Given the description of an element on the screen output the (x, y) to click on. 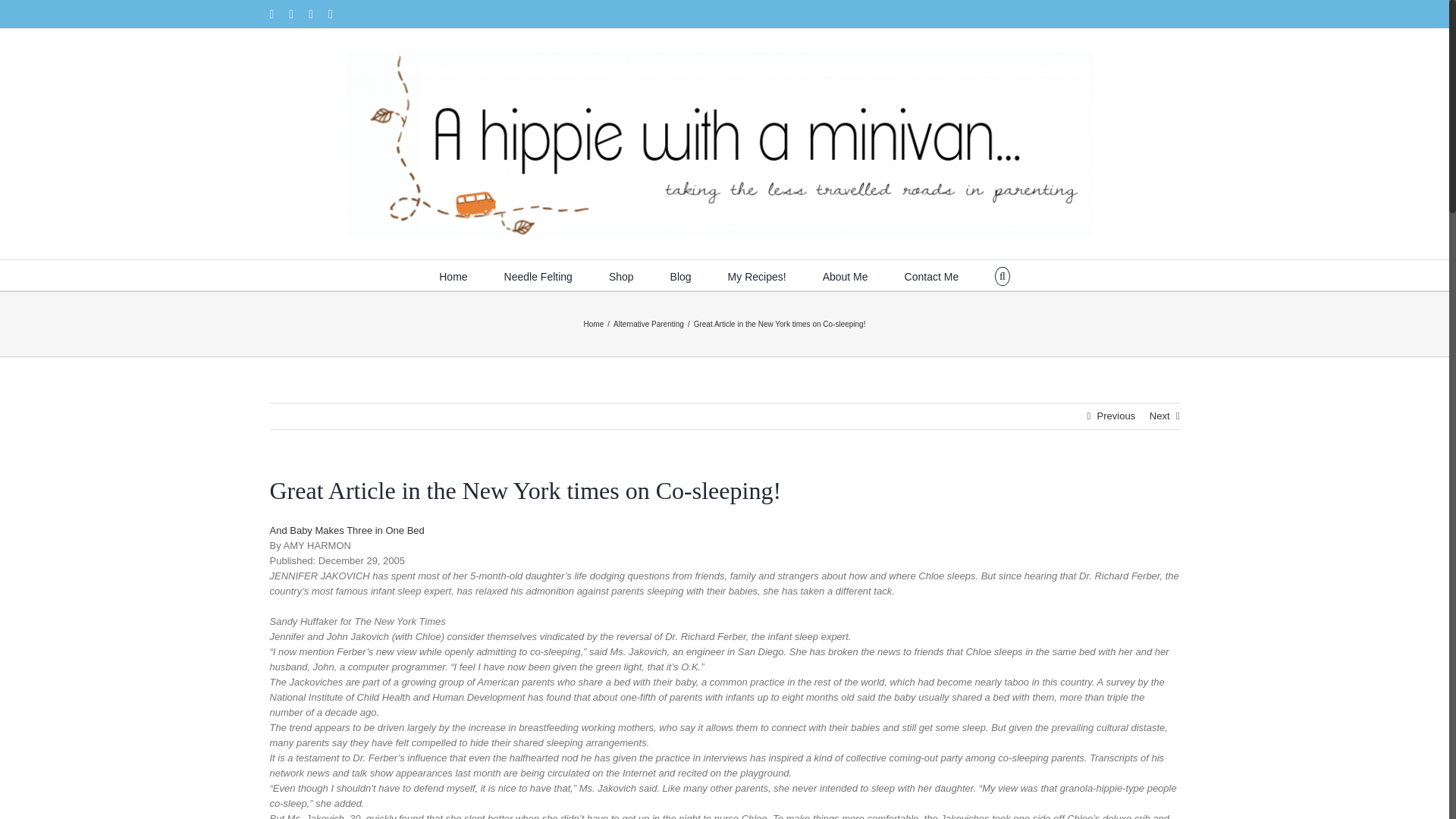
My Recipes! (757, 275)
Alternative Parenting (648, 324)
And Baby Makes Three in One Bed (347, 530)
Previous (1116, 416)
Contact Me (931, 275)
Home (593, 324)
About Me (844, 275)
Needle Felting (537, 275)
Home (453, 275)
